Given the description of an element on the screen output the (x, y) to click on. 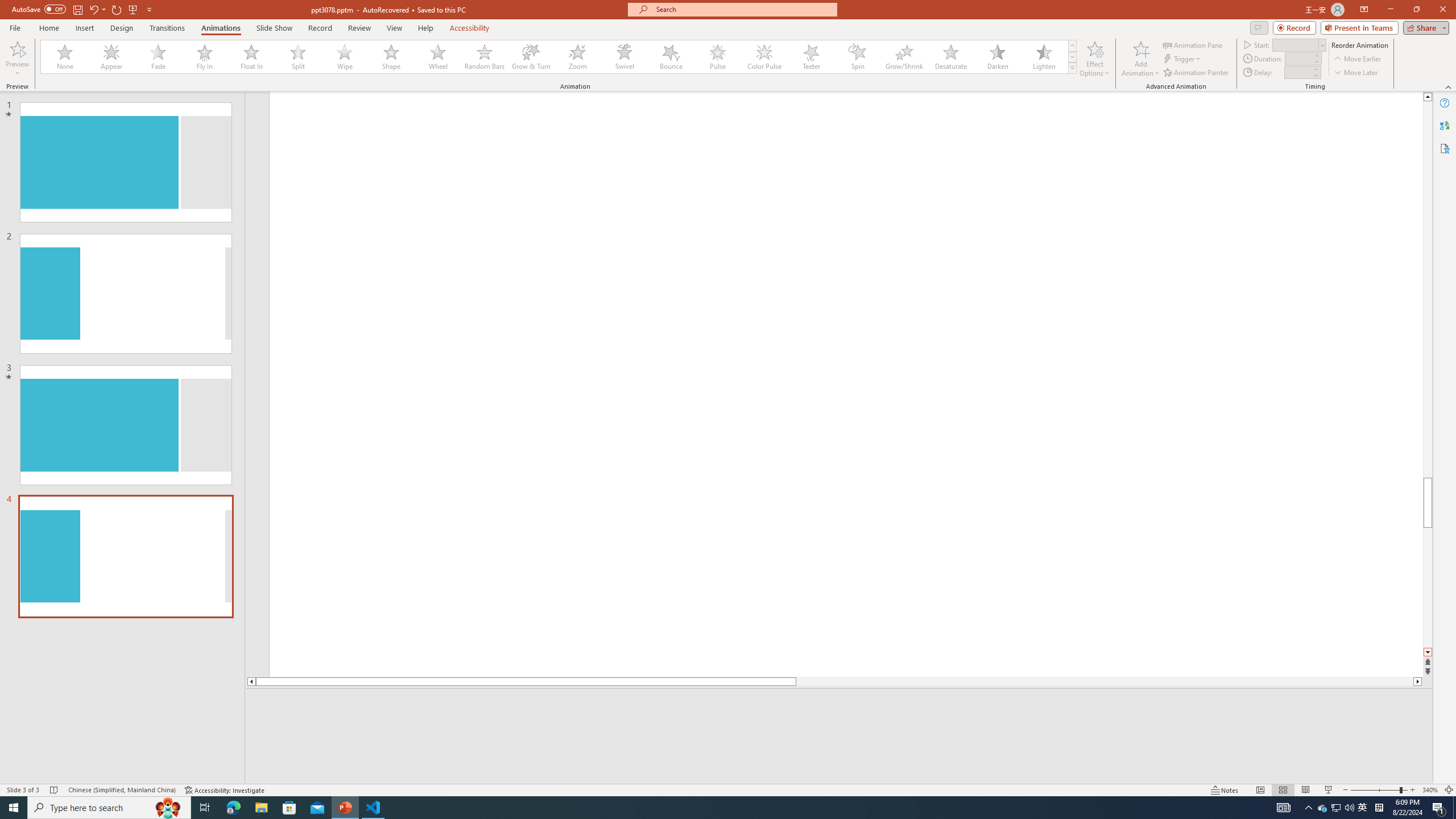
Wipe (344, 56)
Move Later (1355, 72)
Animation Painter (1196, 72)
Animation Styles (1071, 67)
Lighten (1043, 56)
